Given the description of an element on the screen output the (x, y) to click on. 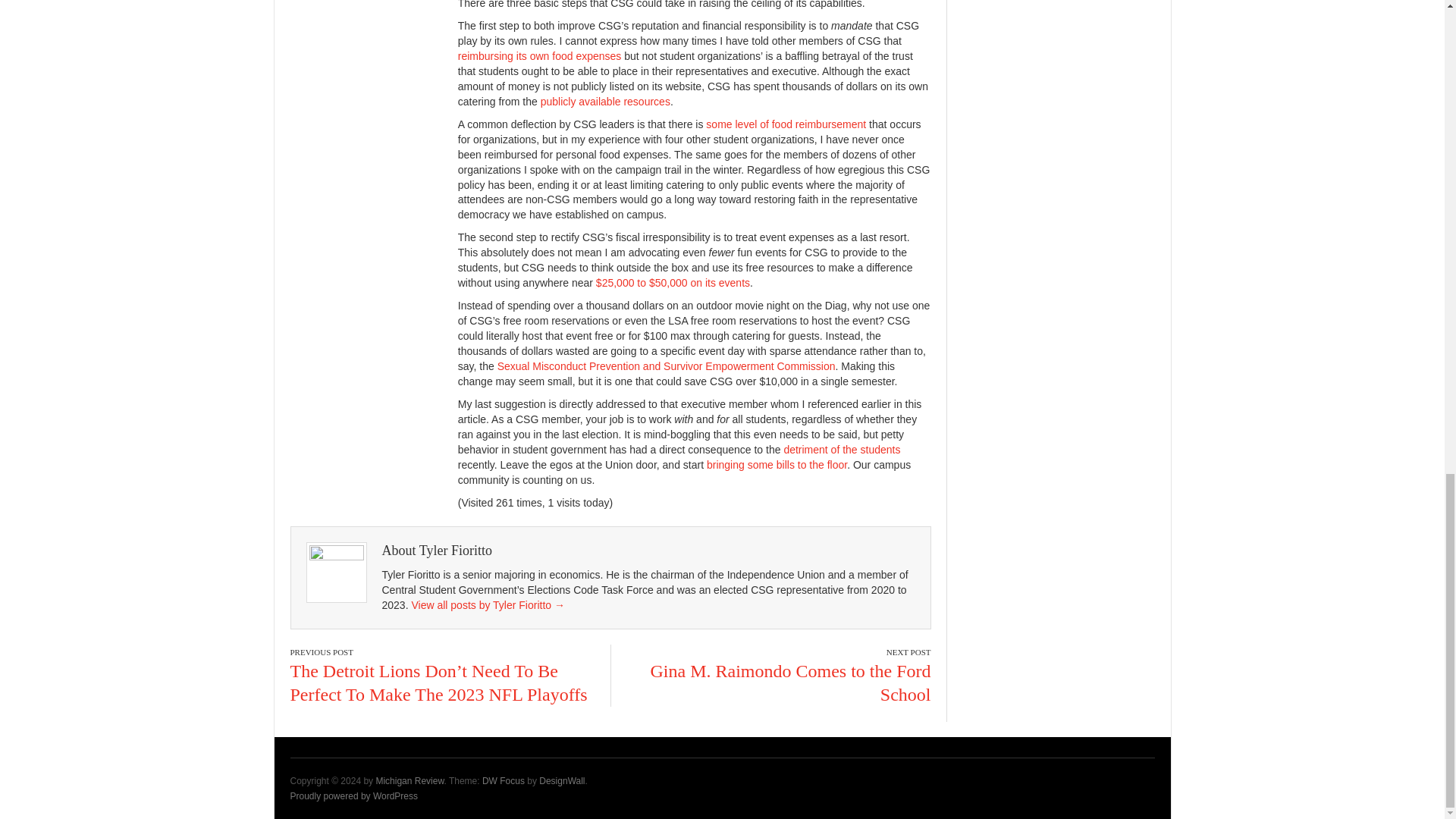
Michigan Review (409, 780)
DW Focus (502, 780)
detriment of the students (841, 449)
bringing some bills to the floor (776, 464)
publicly available resources (604, 101)
some level of food reimbursement (786, 123)
Gina M. Raimondo Comes to the Ford School (790, 682)
WordPress News Theme (502, 780)
reimbursing its own food expenses (539, 55)
